Given the description of an element on the screen output the (x, y) to click on. 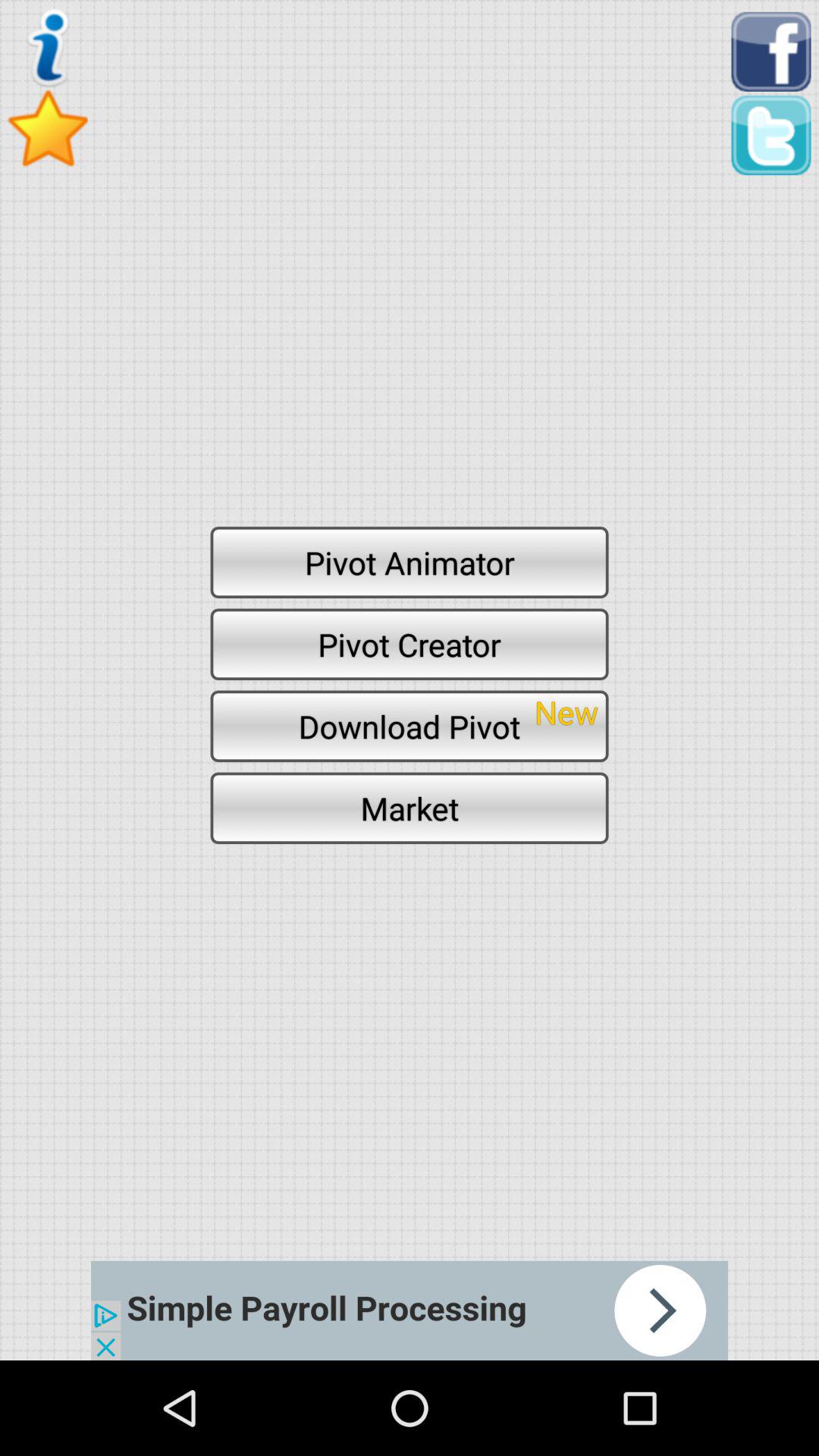
flip to download pivot (409, 726)
